Given the description of an element on the screen output the (x, y) to click on. 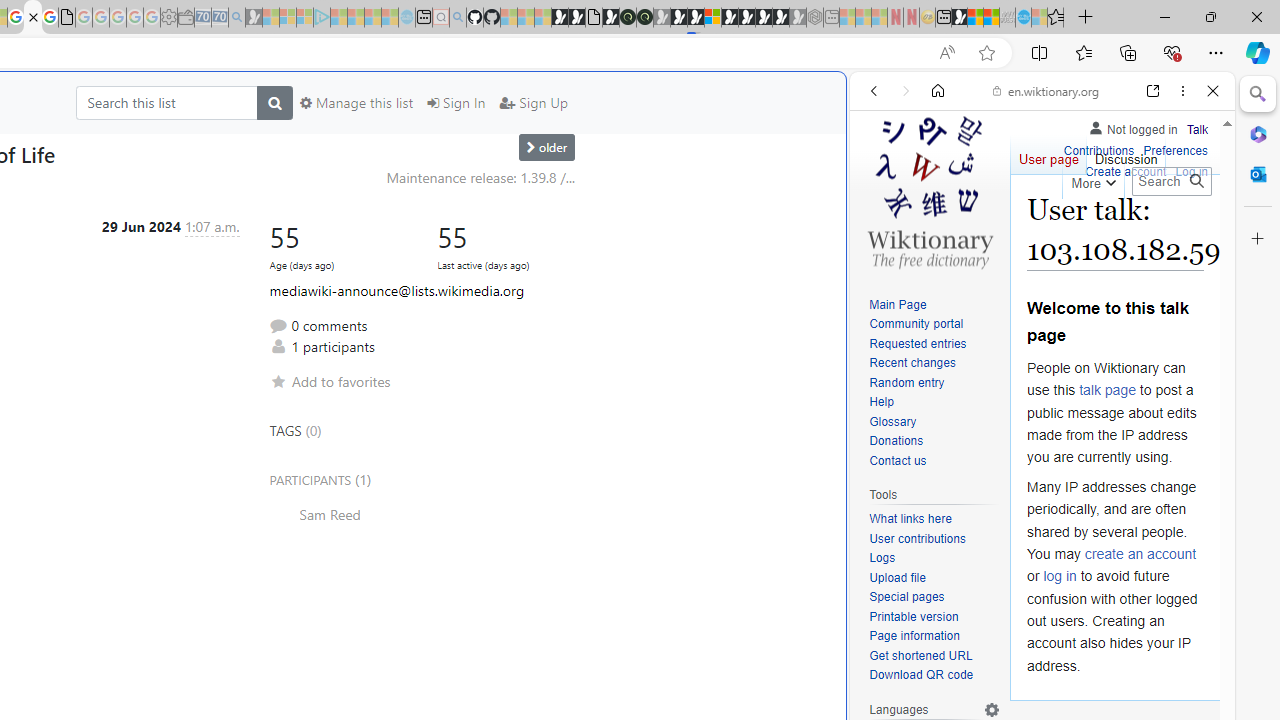
Page information (914, 636)
Logs (934, 558)
Glossary (934, 421)
Special pages (906, 596)
